Given the description of an element on the screen output the (x, y) to click on. 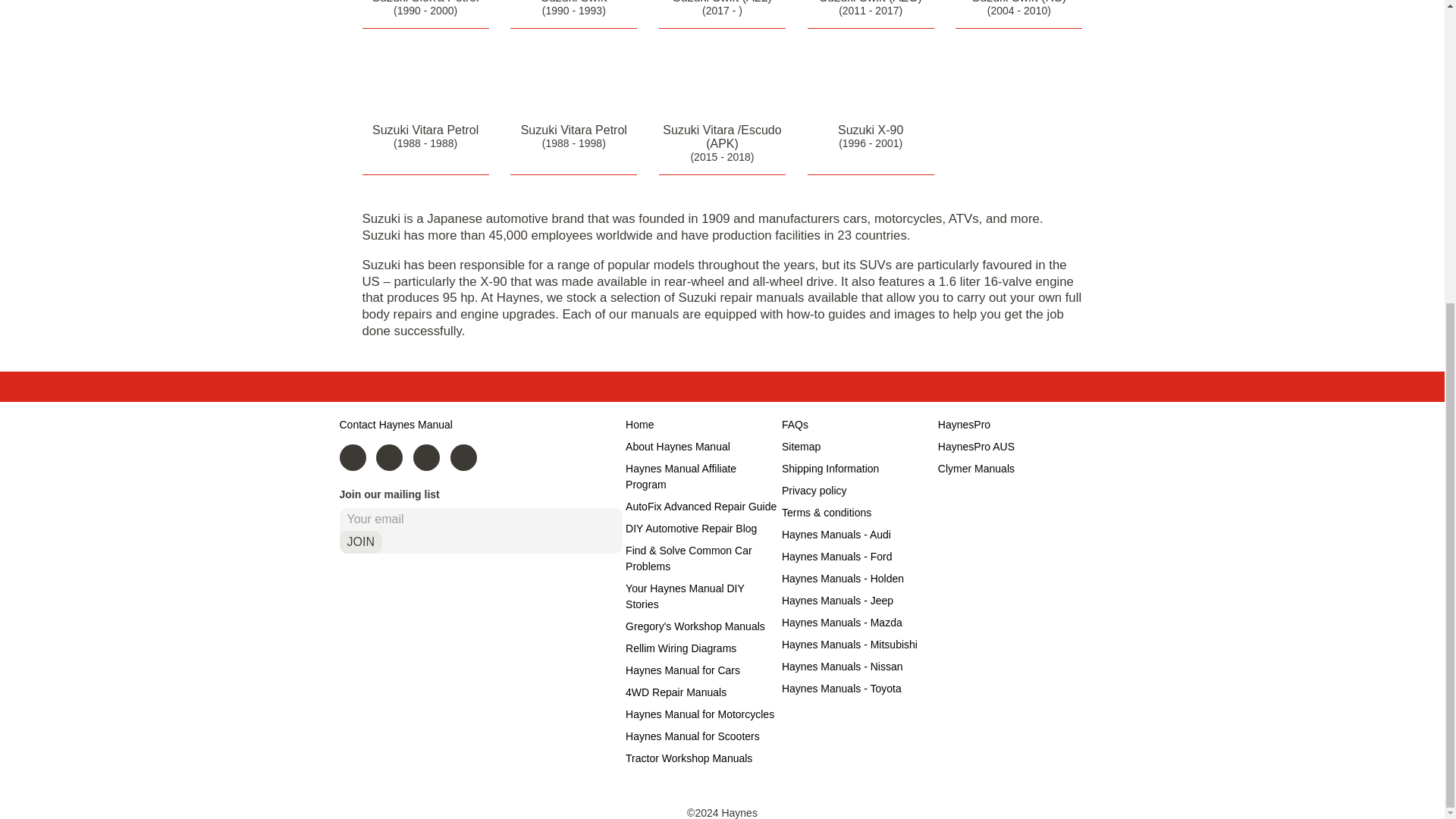
Join (360, 541)
